Given the description of an element on the screen output the (x, y) to click on. 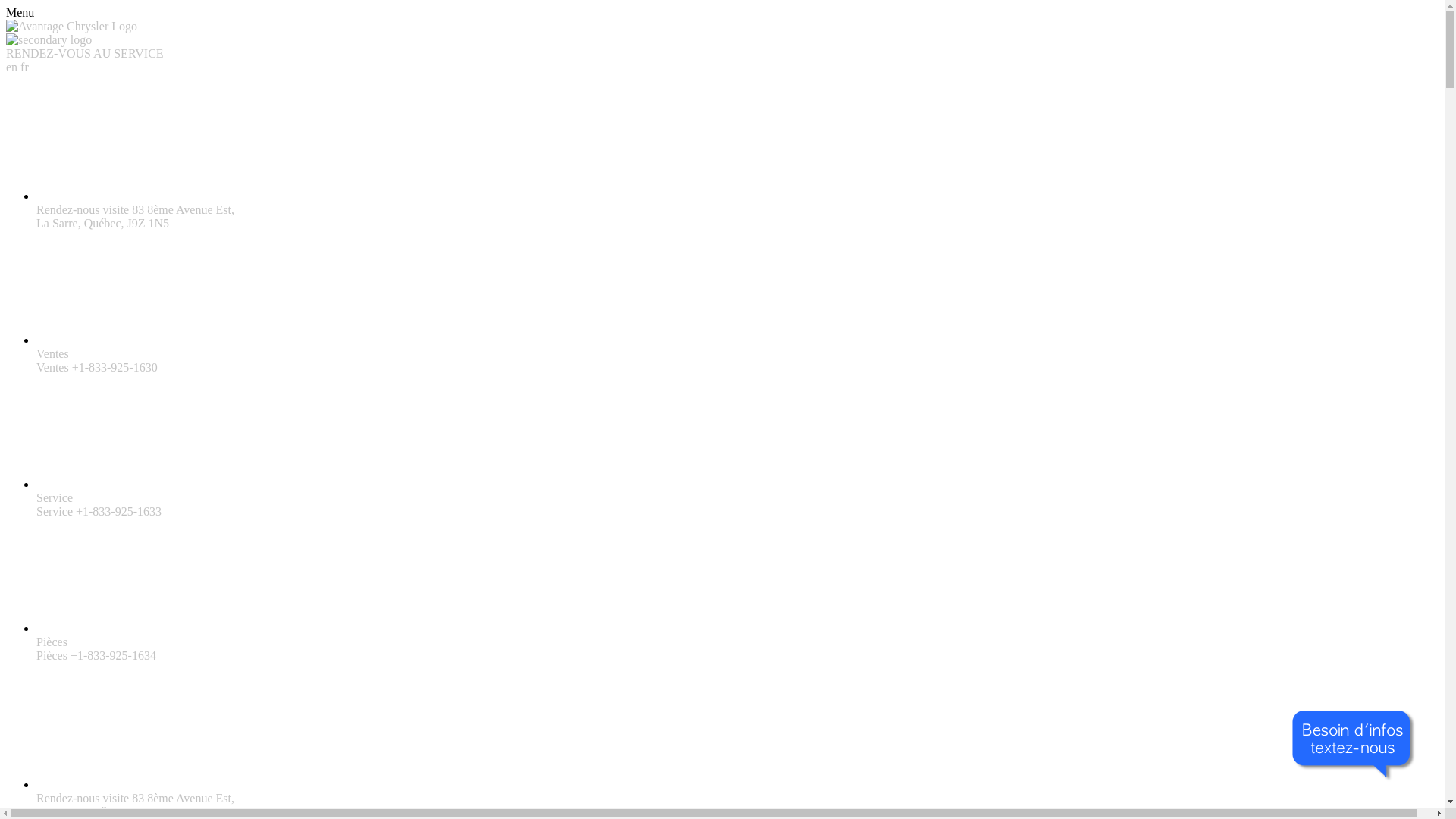
Service
Service +1-833-925-1633 Element type: text (737, 497)
RENDEZ-VOUS AU SERVICE Element type: text (84, 53)
Ventes
Ventes +1-833-925-1630 Element type: text (737, 353)
en Element type: text (13, 66)
fr Element type: text (24, 66)
